Given the description of an element on the screen output the (x, y) to click on. 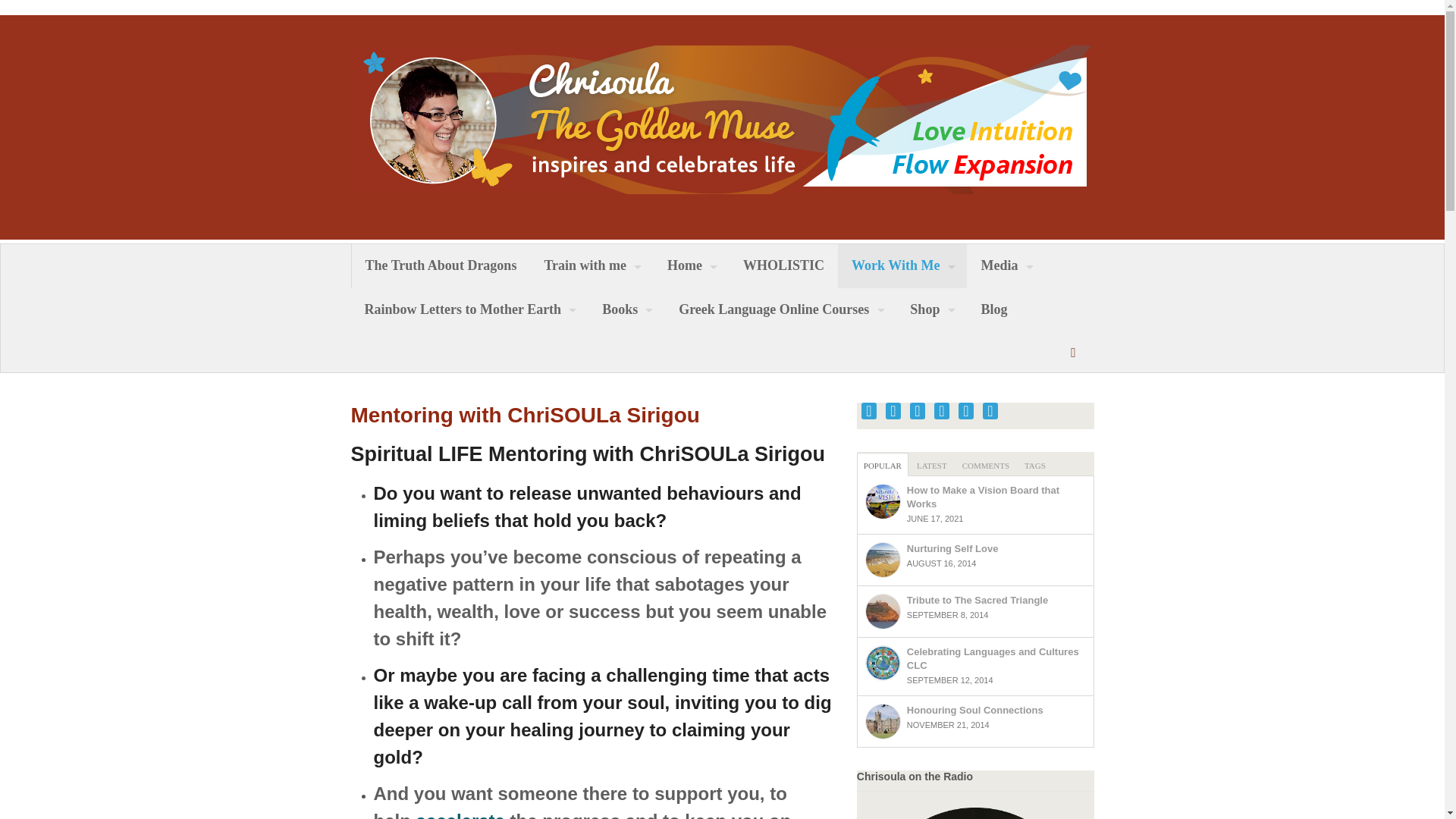
How to Make a Vision Board that Works (983, 496)
Nurturing Self Love (952, 548)
Tribute to The Sacred Triangle (977, 600)
Train with me (591, 266)
The Truth About Dragons (441, 266)
Honouring Soul Connections (975, 709)
Home (691, 266)
Celebrating Languages and Cultures CLC (992, 658)
